Given the description of an element on the screen output the (x, y) to click on. 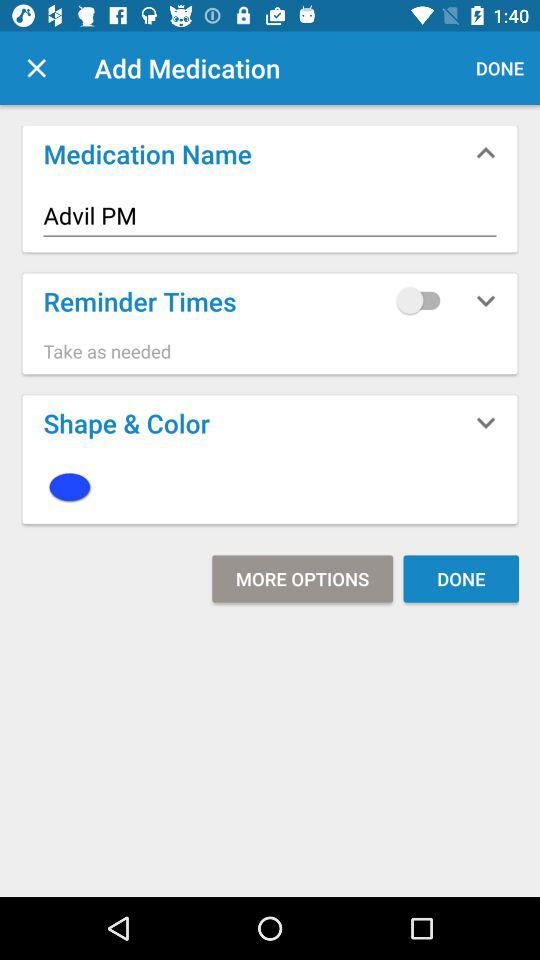
exit/close window (36, 68)
